Given the description of an element on the screen output the (x, y) to click on. 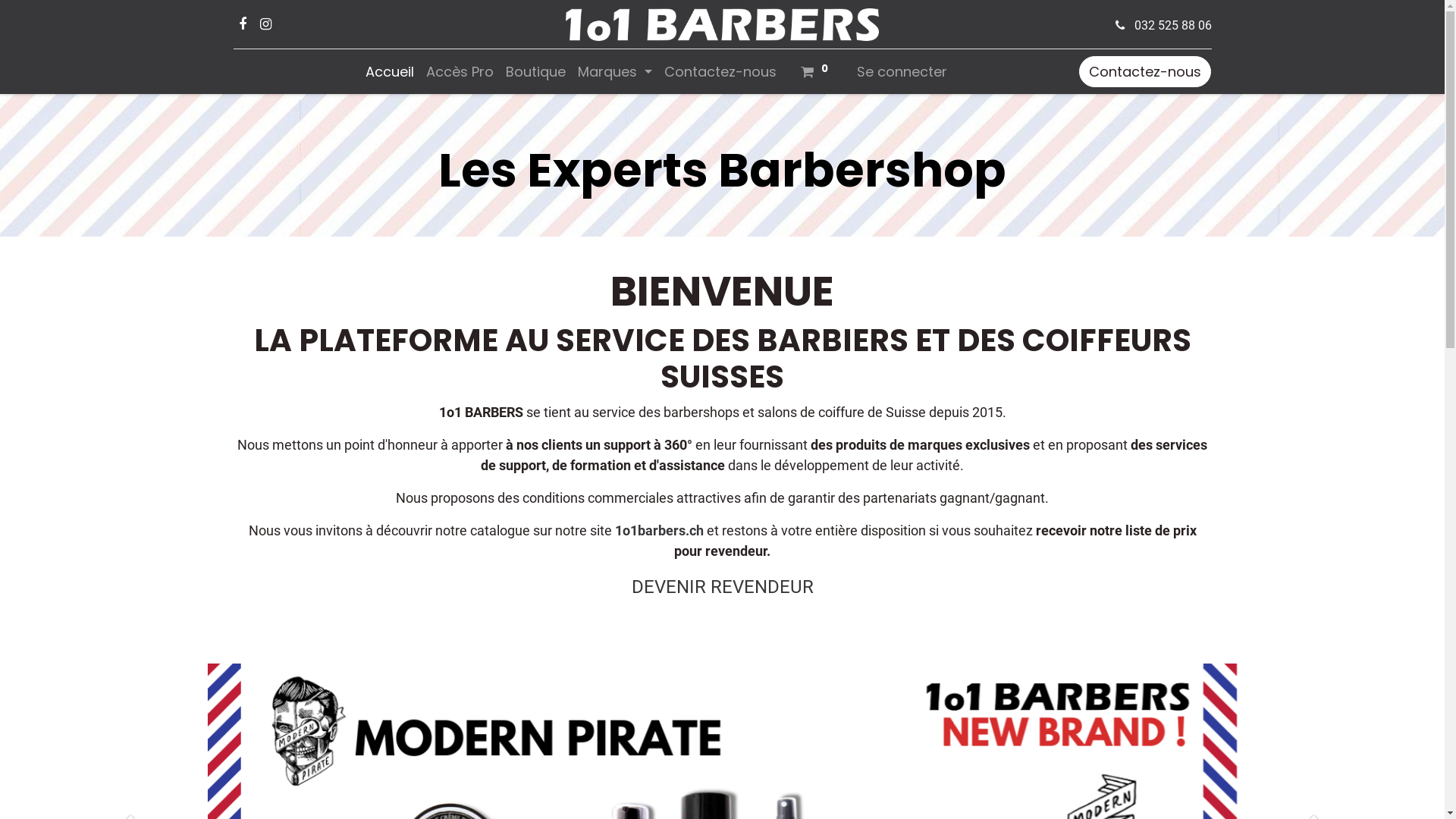
032 525 88 06 Element type: text (1172, 25)
Boutique Element type: text (535, 71)
Marques Element type: text (614, 71)
Se connecter Element type: text (901, 71)
Accueil Element type: text (389, 71)
1o1barbers.ch Element type: text (658, 530)
DEVENIR REVENDEUR Element type: text (721, 586)
Contactez-nous Element type: text (720, 71)
Contactez-nous Element type: text (1145, 71)
0 Element type: text (816, 71)
1o1 Barbers Element type: hover (721, 24)
